Given the description of an element on the screen output the (x, y) to click on. 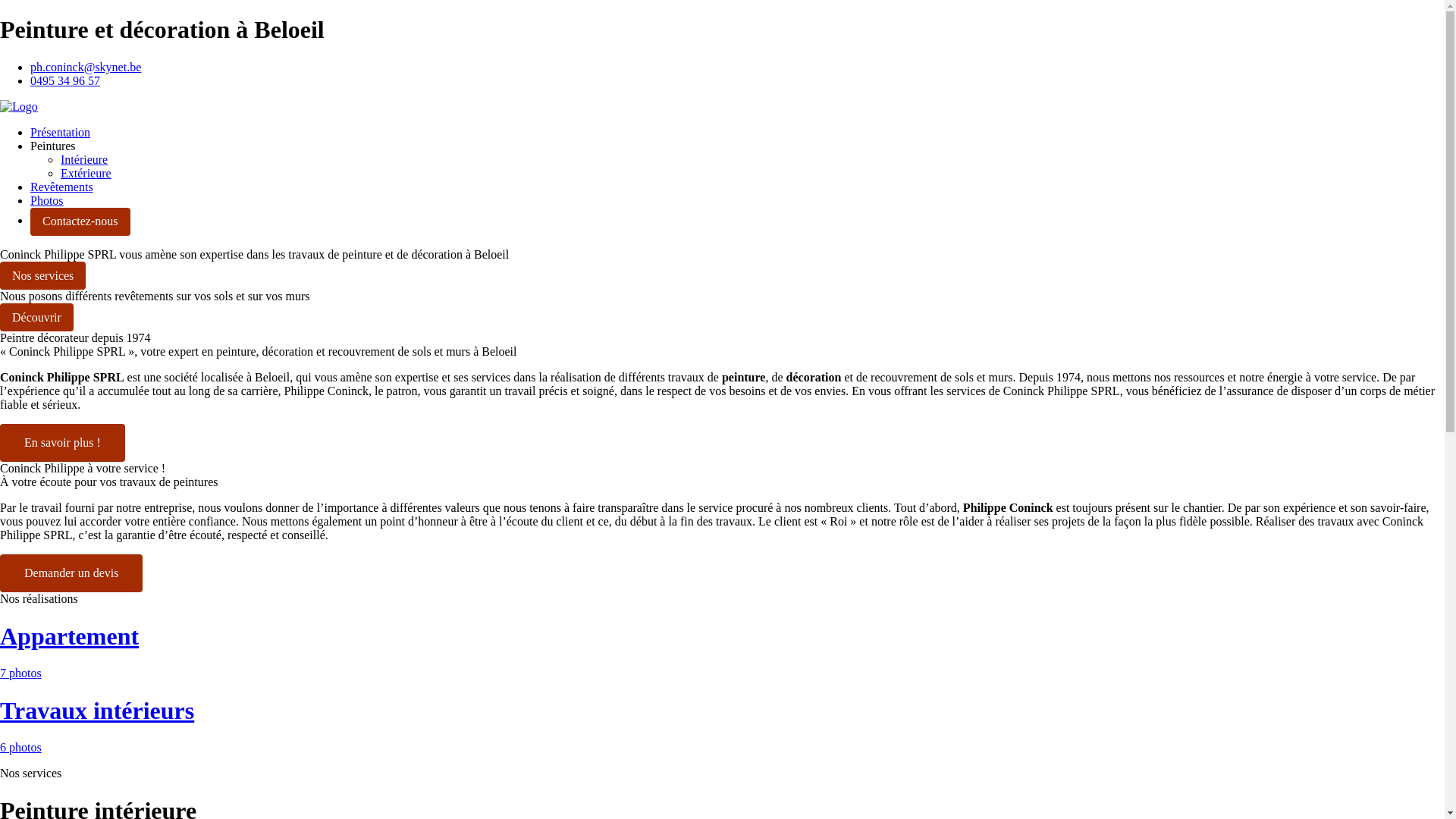
0495 34 96 57 Element type: text (65, 80)
ph.coninck@skynet.be Element type: text (85, 66)
Contactez-nous Element type: text (80, 221)
Demander un devis Element type: text (71, 573)
Nos services Element type: text (42, 275)
Photos Element type: text (46, 200)
Appartement
7 photos Element type: text (722, 651)
En savoir plus ! Element type: text (62, 442)
Peintures Element type: text (52, 145)
